Given the description of an element on the screen output the (x, y) to click on. 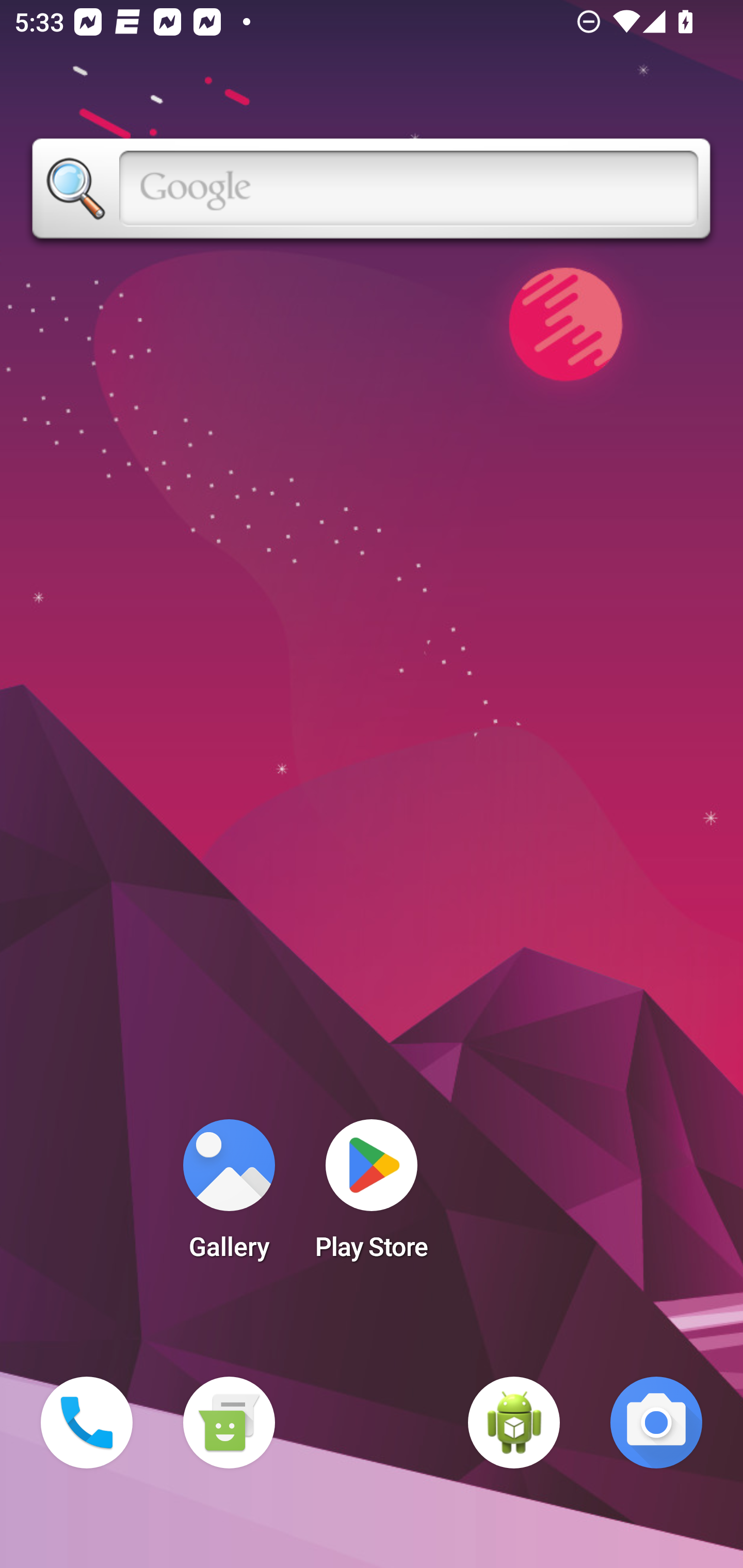
Gallery (228, 1195)
Play Store (371, 1195)
Phone (86, 1422)
Messaging (228, 1422)
WebView Browser Tester (513, 1422)
Camera (656, 1422)
